Given the description of an element on the screen output the (x, y) to click on. 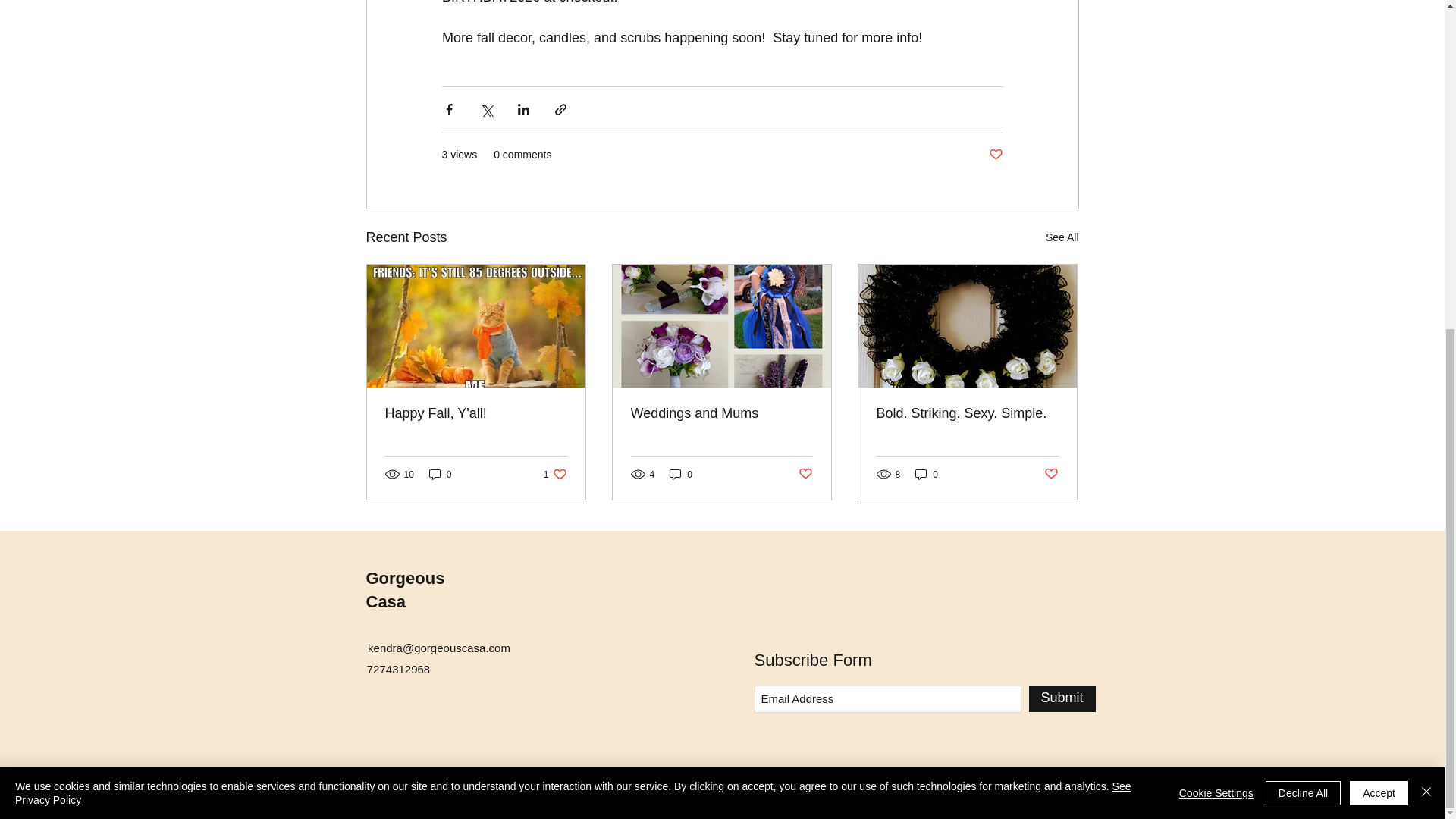
Happy Fall, Y'all! (555, 473)
Submit (476, 413)
Weddings and Mums (1060, 698)
Gorgeous Casa (721, 413)
See All (404, 589)
Bold. Striking. Sexy. Simple. (1061, 237)
0 (967, 413)
Post not marked as liked (681, 473)
0 (995, 154)
